Given the description of an element on the screen output the (x, y) to click on. 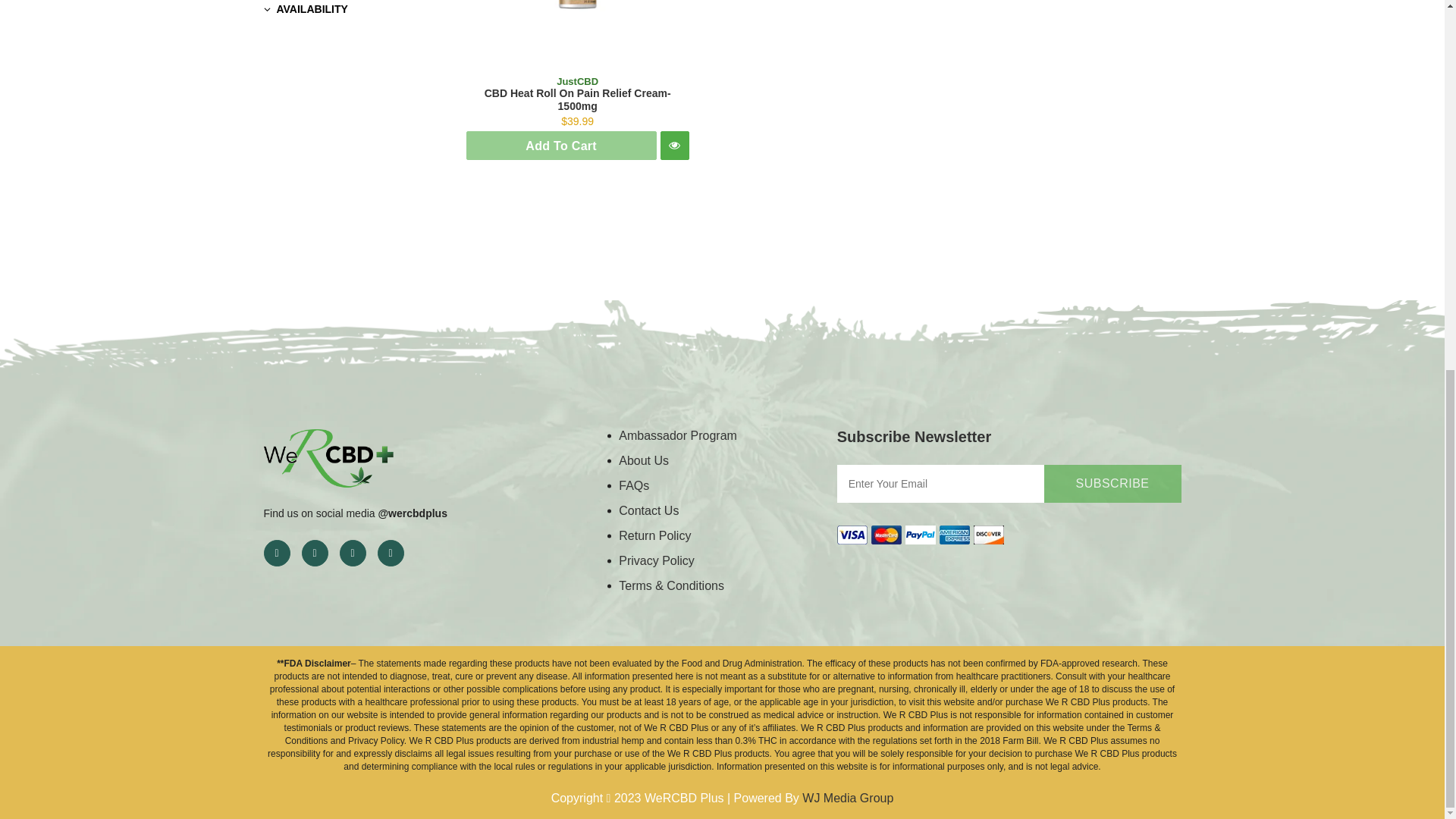
Quick view (674, 145)
